Given the description of an element on the screen output the (x, y) to click on. 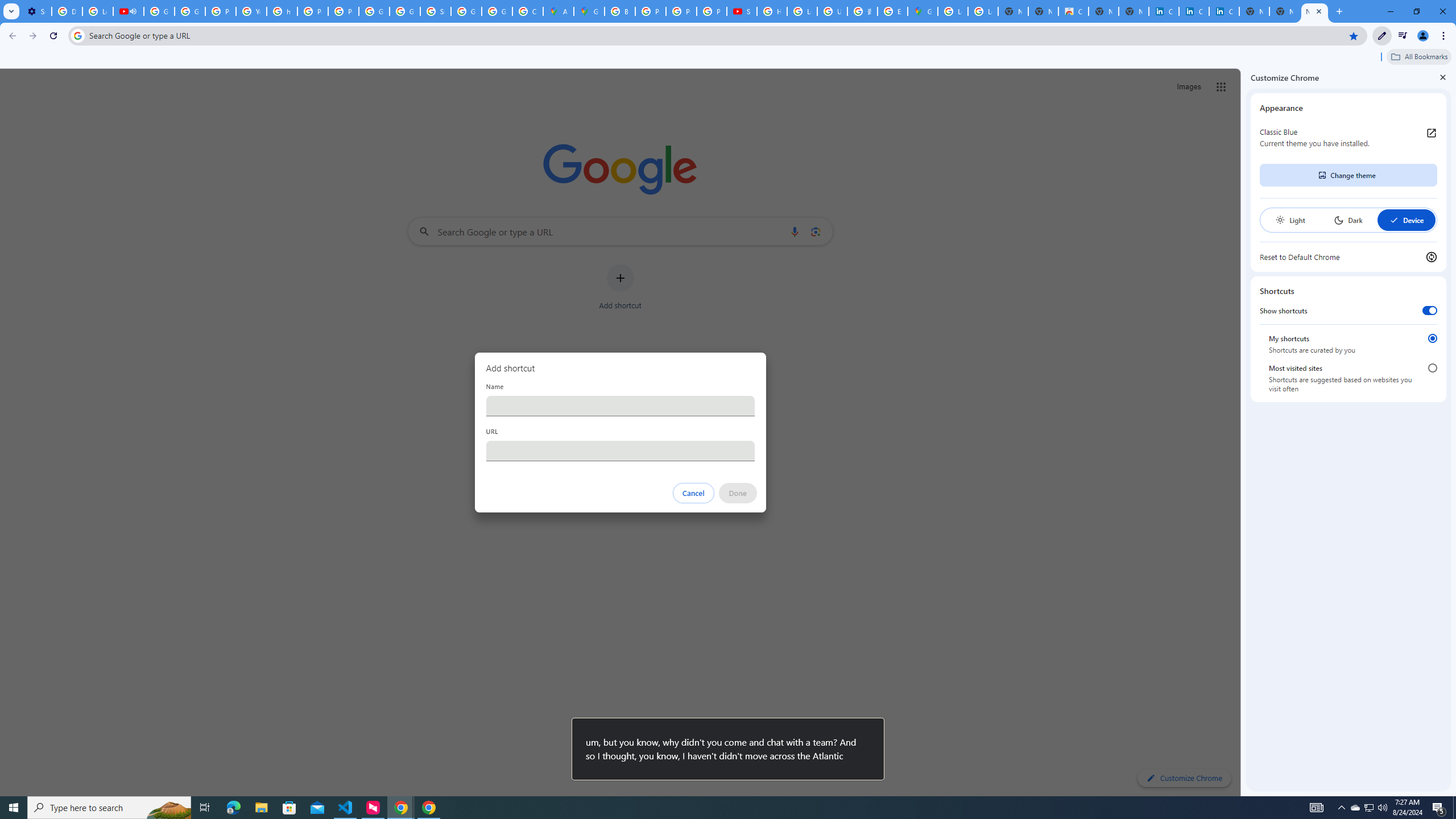
New Tab (1314, 11)
Privacy Help Center - Policies Help (650, 11)
Create your Google Account (527, 11)
Cancel (693, 493)
Google Maps (922, 11)
My shortcuts (1432, 338)
Cookie Policy | LinkedIn (1193, 11)
Settings - Customize profile (36, 11)
